Given the description of an element on the screen output the (x, y) to click on. 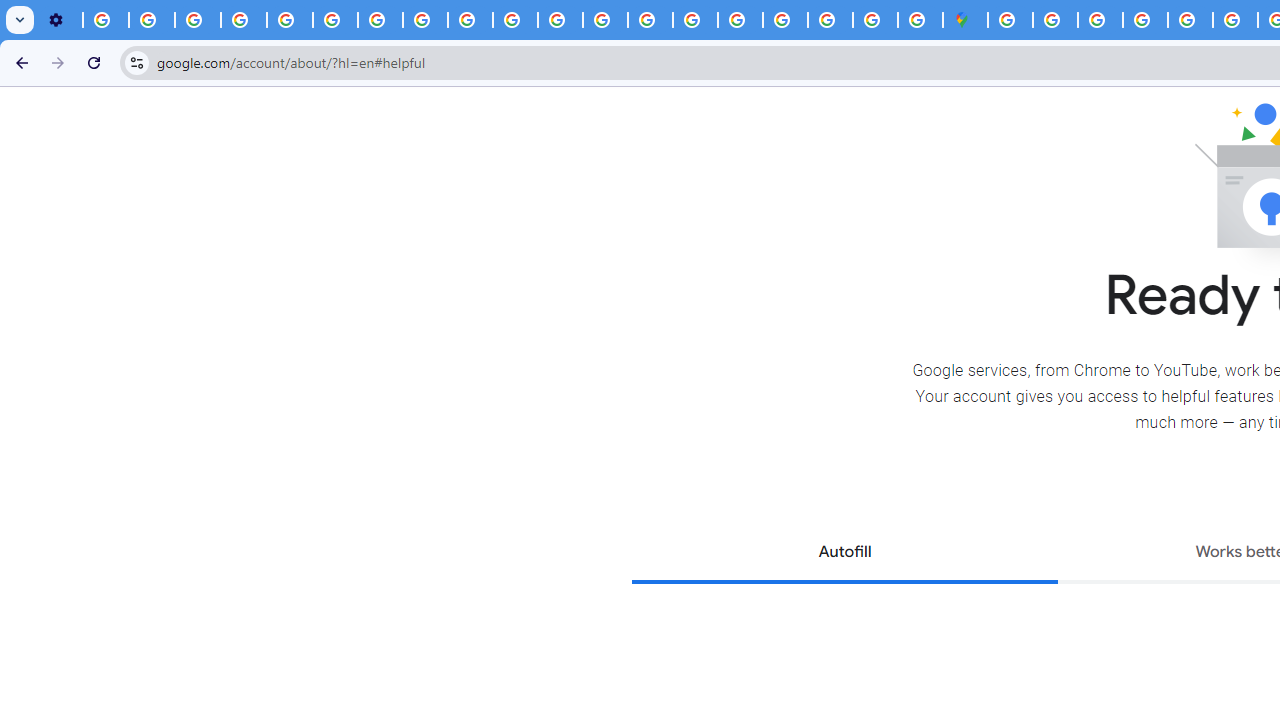
Settings - Customize profile (60, 20)
YouTube (335, 20)
Privacy Help Center - Policies Help (605, 20)
Sign in - Google Accounts (784, 20)
Delete photos & videos - Computer - Google Photos Help (106, 20)
